Given the description of an element on the screen output the (x, y) to click on. 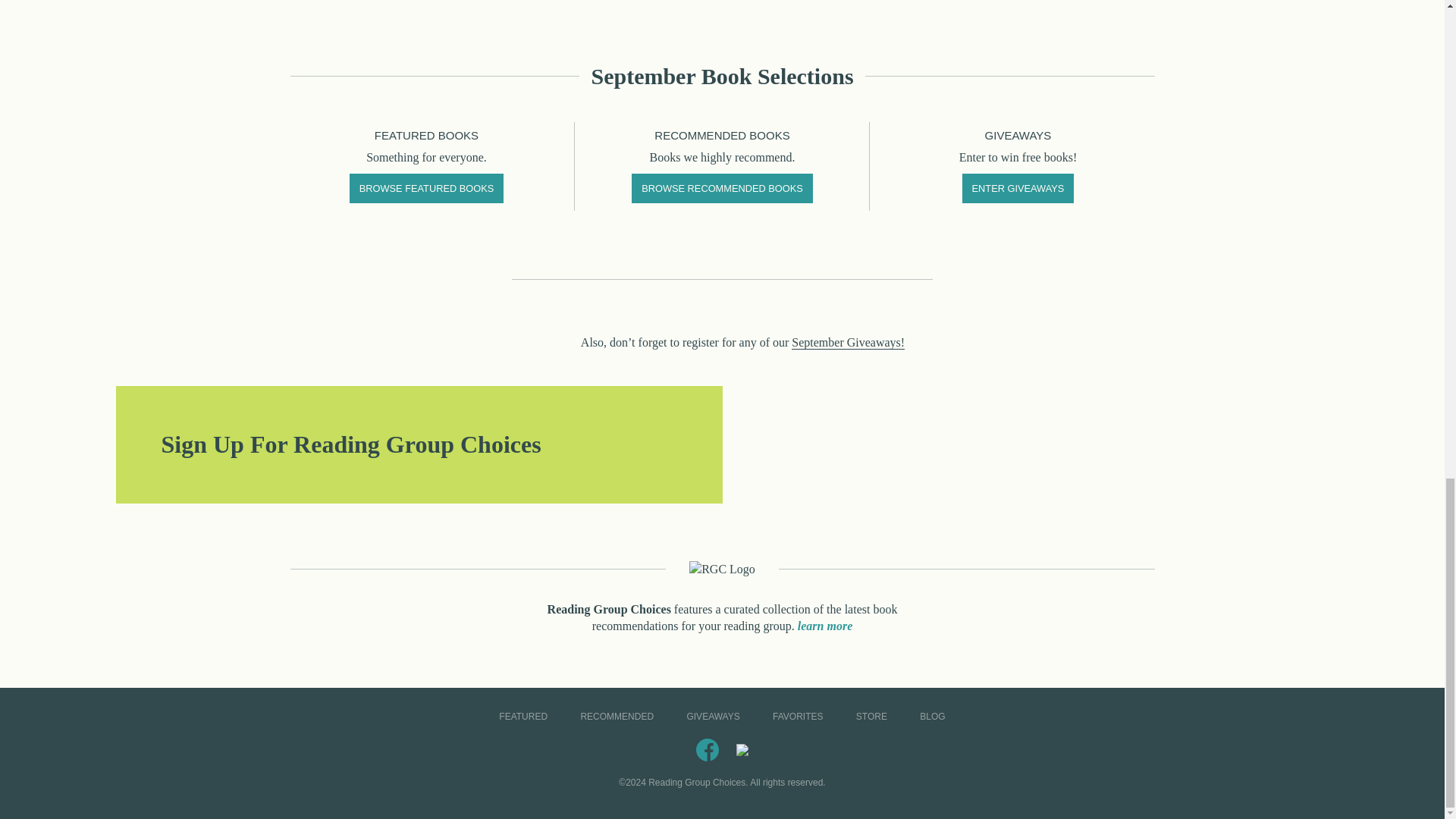
Reading Group Choices on Instagram (742, 748)
learn more (824, 625)
FEATURED (522, 716)
BROWSE RECOMMENDED BOOKS (721, 188)
September Giveaways! (848, 342)
BROWSE FEATURED BOOKS (426, 188)
Sign Up For Reading Group Choices (418, 444)
Shop our Annual Print Editions (1024, 444)
ENTER GIVEAWAYS (1018, 188)
Reading Group Choices on Facebook (707, 748)
